Given the description of an element on the screen output the (x, y) to click on. 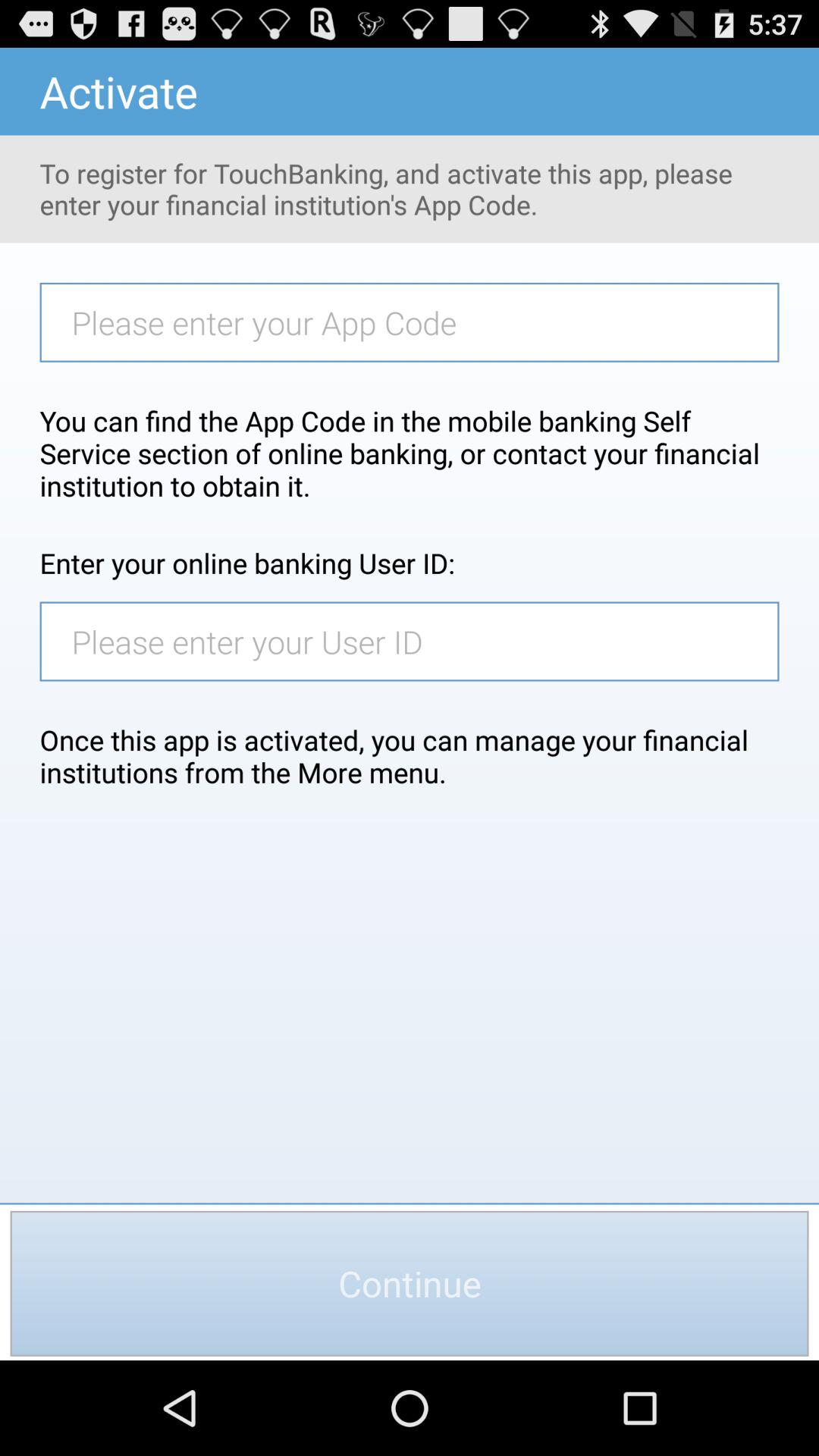
launch icon above the you can find (417, 322)
